Given the description of an element on the screen output the (x, y) to click on. 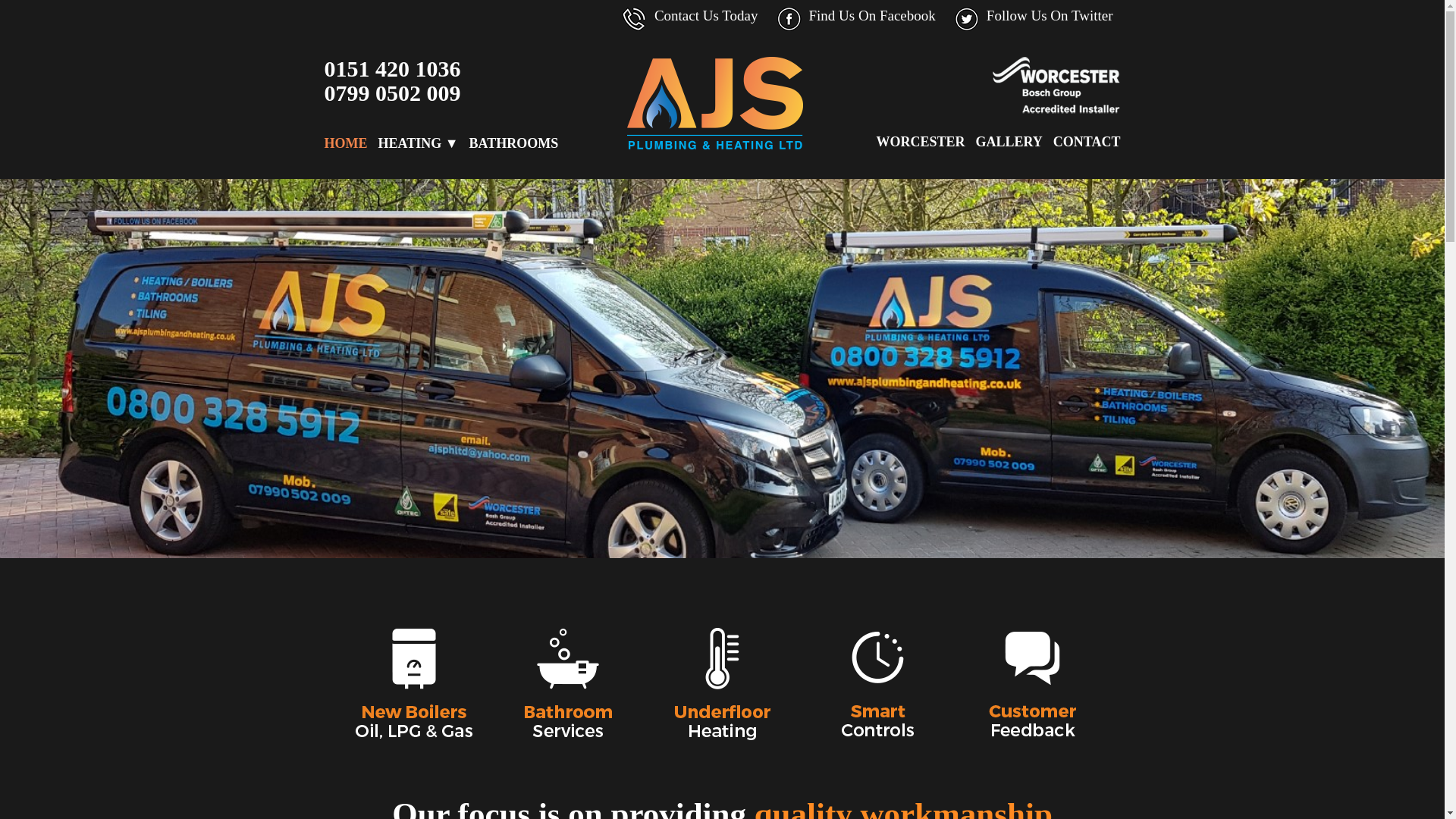
Follow Us On Twitter (1050, 19)
Gallery (1008, 141)
Bathrooms (512, 142)
HOME (346, 142)
GALLERY (1008, 141)
0799 0502 009 (392, 92)
Home (346, 142)
Find Us On Facebook (871, 19)
WORCESTER (919, 141)
Contact (1086, 141)
